Given the description of an element on the screen output the (x, y) to click on. 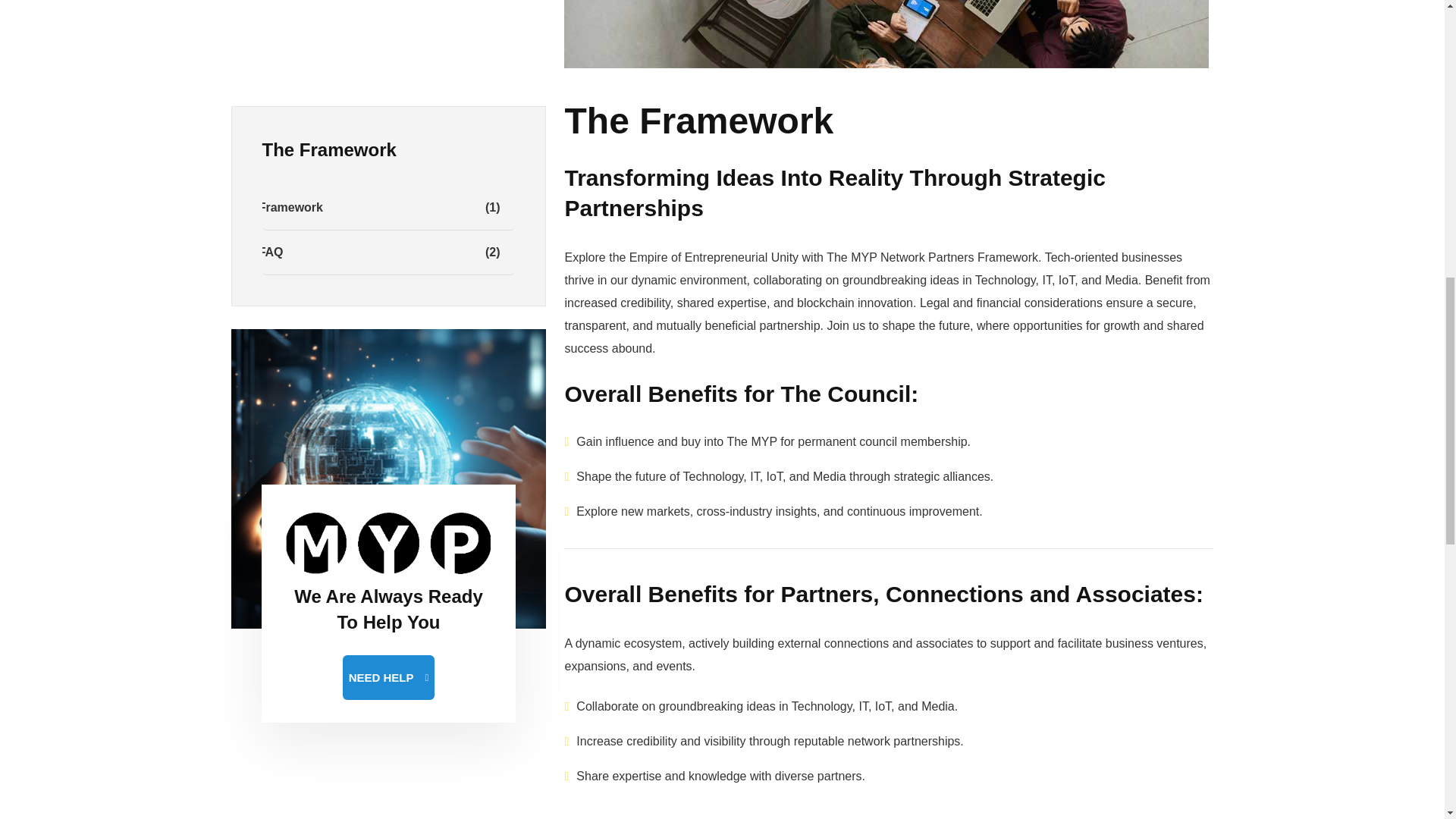
NEED HELP (388, 298)
